Given the description of an element on the screen output the (x, y) to click on. 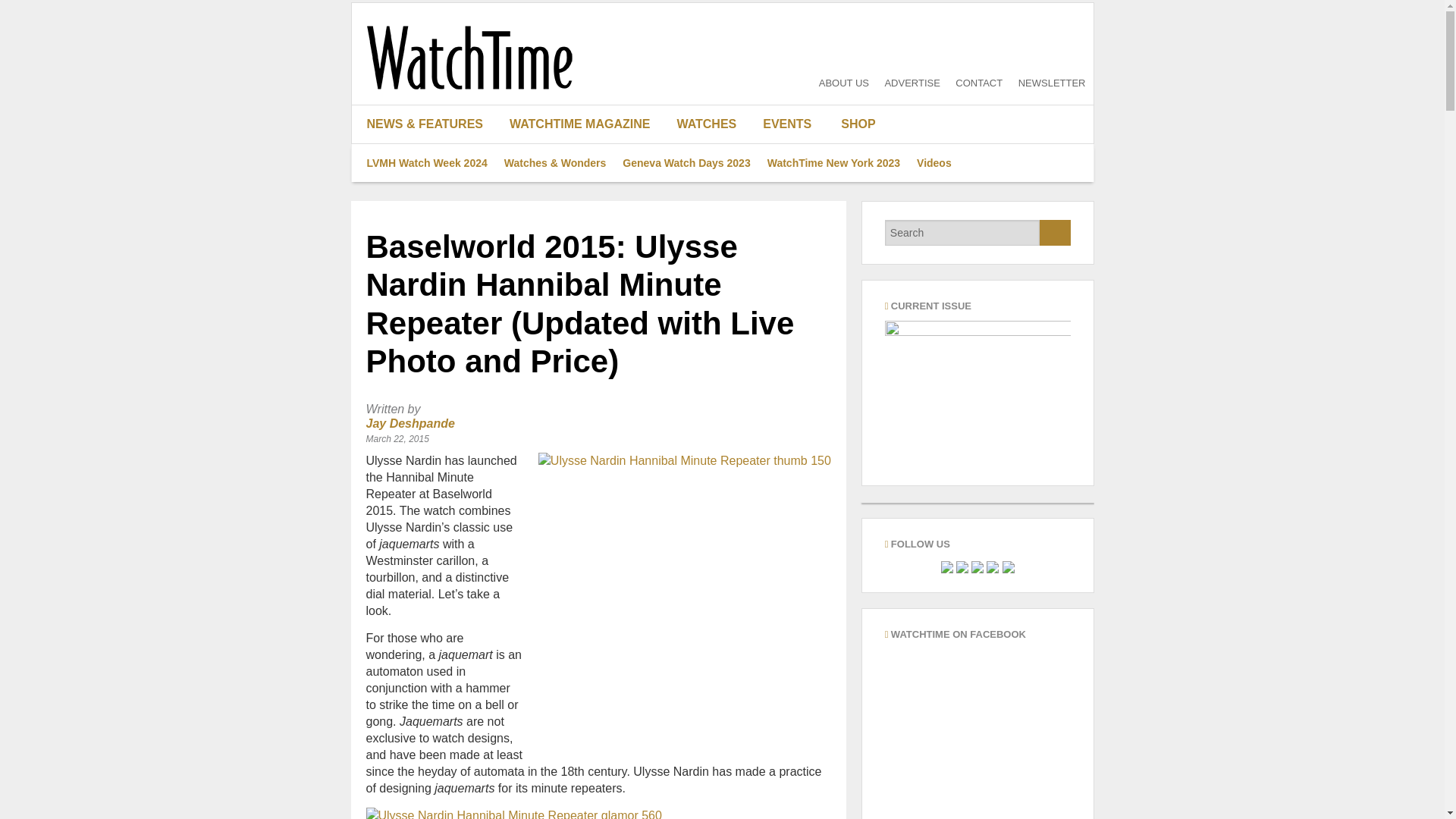
WATCH TERM GLOSSARY (712, 238)
SUBSCRIBE NOW (585, 275)
SUBSCRIPTIONS SERVICE (585, 238)
Videos (934, 162)
WATCHES (712, 124)
WATCH NEWS (430, 238)
Geneva Watch Days 2023 (686, 162)
SHOP (848, 124)
EVENTS (786, 124)
WATCH PRONUNCIATION (712, 199)
ADVERTISE (911, 82)
POPULAR WATCH BRANDS (712, 161)
WatchTime New York 2023 (833, 162)
CURRENT ISSUE (585, 161)
LVMH Watch Week 2024 (426, 162)
